Given the description of an element on the screen output the (x, y) to click on. 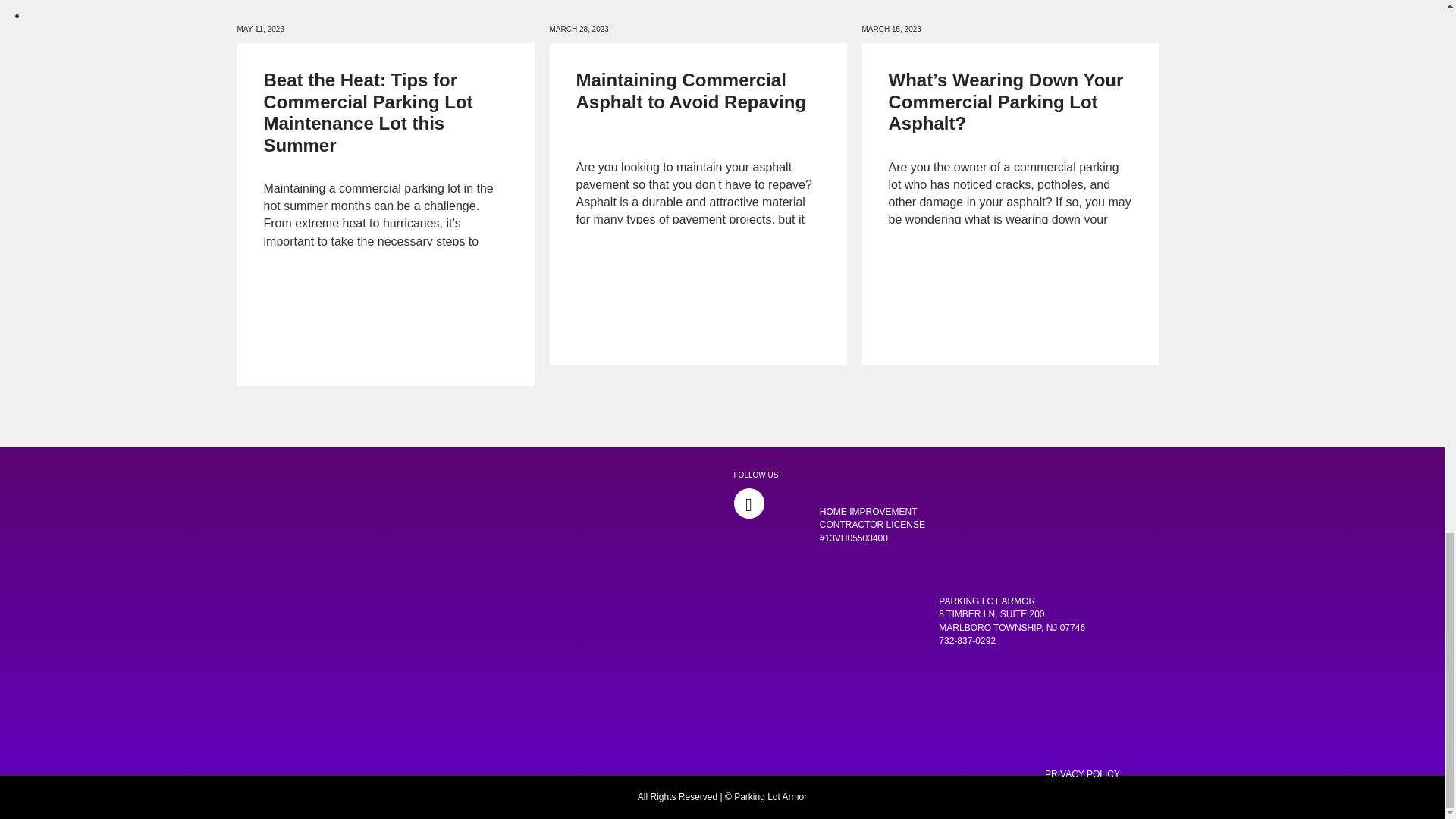
Maintaining Commercial Asphalt to Avoid Repaving (691, 90)
732-837-0292 (967, 640)
PRIVACY POLICY (1082, 774)
